Given the description of an element on the screen output the (x, y) to click on. 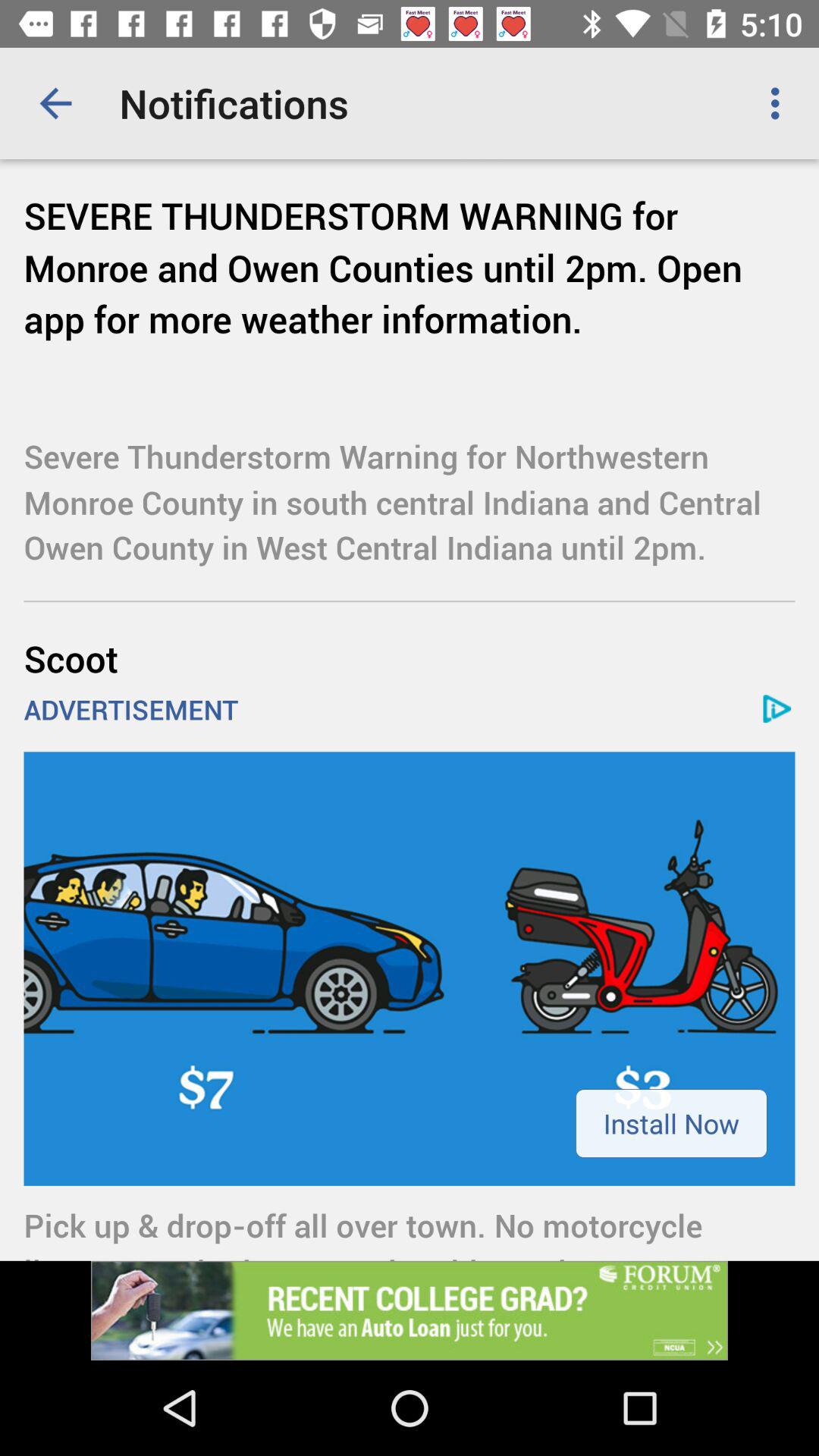
click the add (409, 1310)
